Given the description of an element on the screen output the (x, y) to click on. 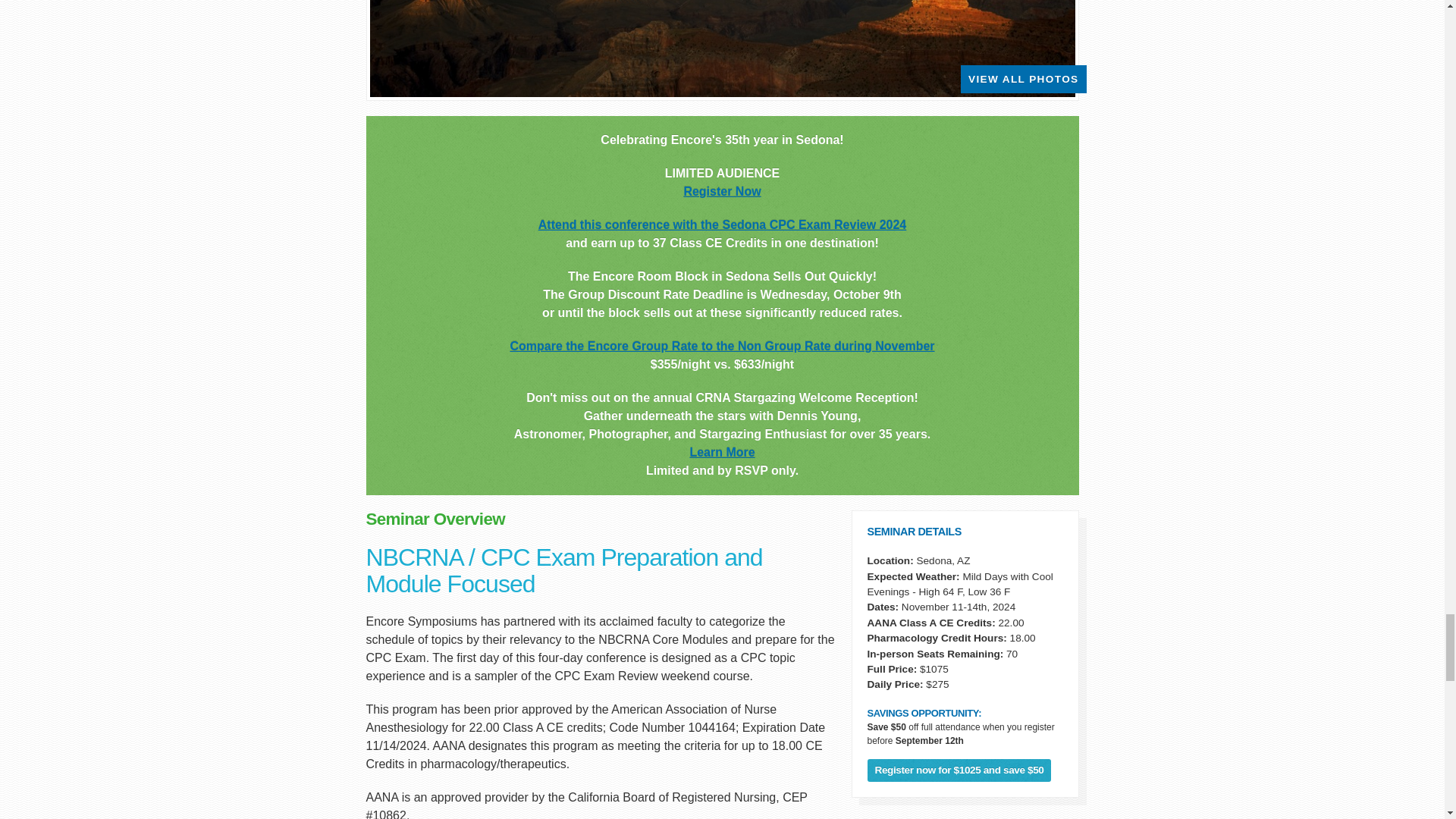
Learn More (721, 451)
Register Now (721, 191)
VIEW ALL PHOTOS (1023, 79)
Attend this conference with the Sedona CPC Exam Review 2024 (721, 224)
